Given the description of an element on the screen output the (x, y) to click on. 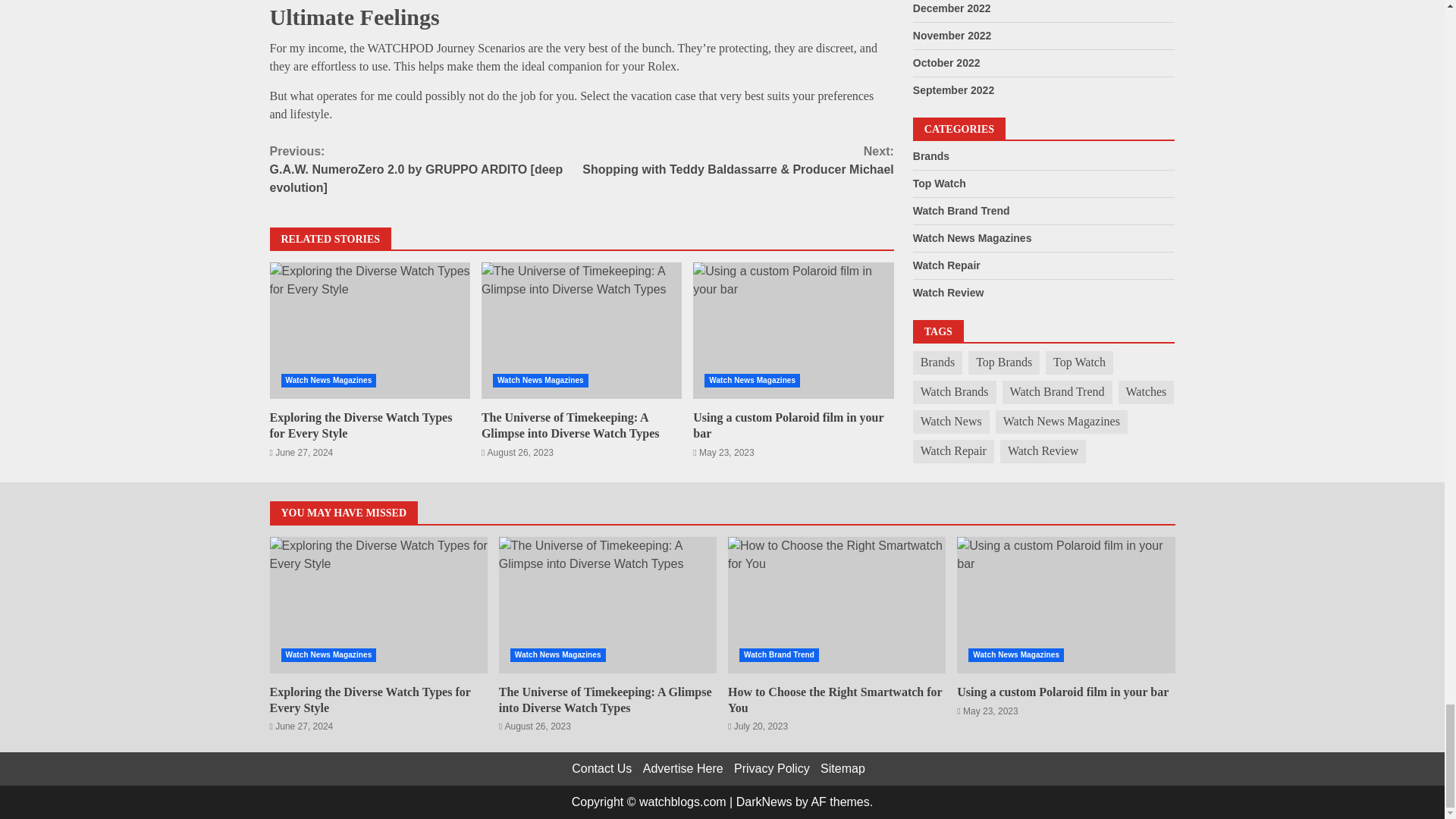
Exploring the Diverse Watch Types for Every Style (369, 330)
Watch News Magazines (328, 380)
Using a custom Polaroid film in your bar (788, 425)
Using a custom Polaroid film in your bar (793, 330)
Using a custom Polaroid film in your bar (1065, 605)
Watch News Magazines (540, 380)
Watch News Magazines (751, 380)
